Given the description of an element on the screen output the (x, y) to click on. 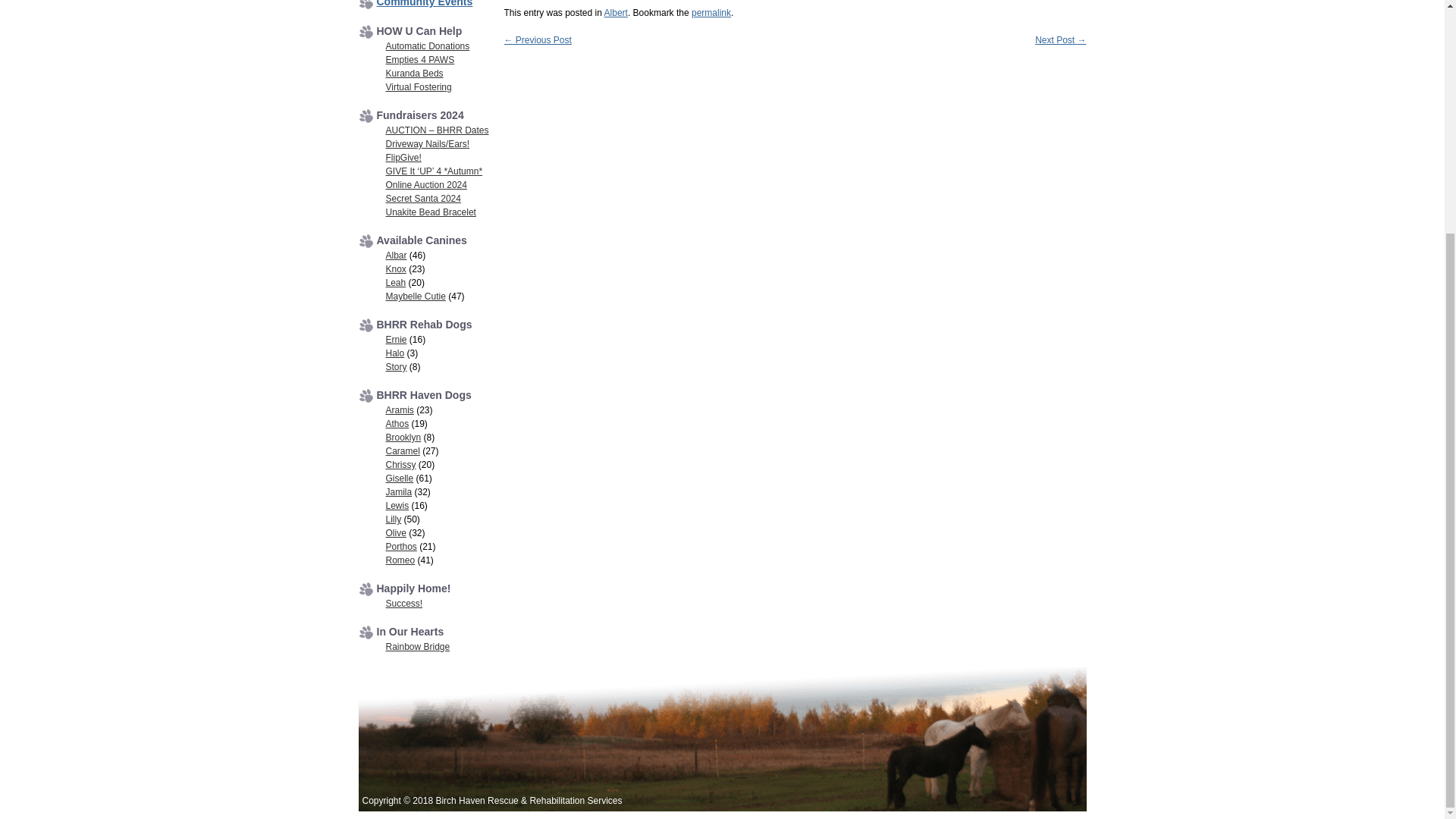
Aramis (399, 409)
Albar (395, 255)
Romeo (399, 560)
Unakite Bead Bracelet (430, 212)
Brooklyn (402, 437)
Story (395, 366)
View all posts filed under Caramel (402, 450)
View all posts filed under Giselle (399, 478)
FlipGive! (402, 157)
View all posts filed under Brooklyn (402, 437)
